Given the description of an element on the screen output the (x, y) to click on. 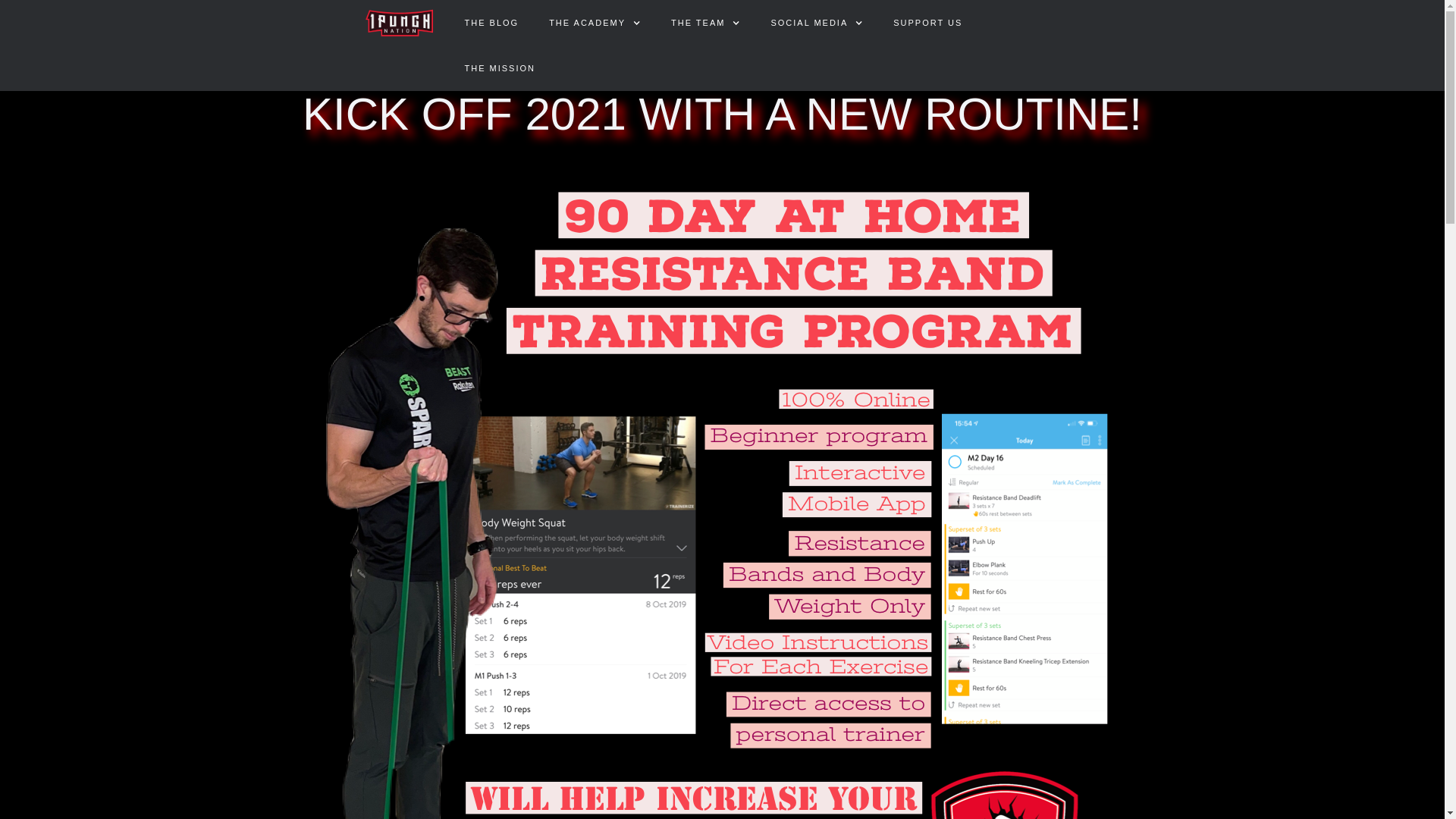
THE BLOG Element type: text (490, 22)
THE MISSION Element type: text (499, 68)
SUPPORT US Element type: text (927, 22)
